Given the description of an element on the screen output the (x, y) to click on. 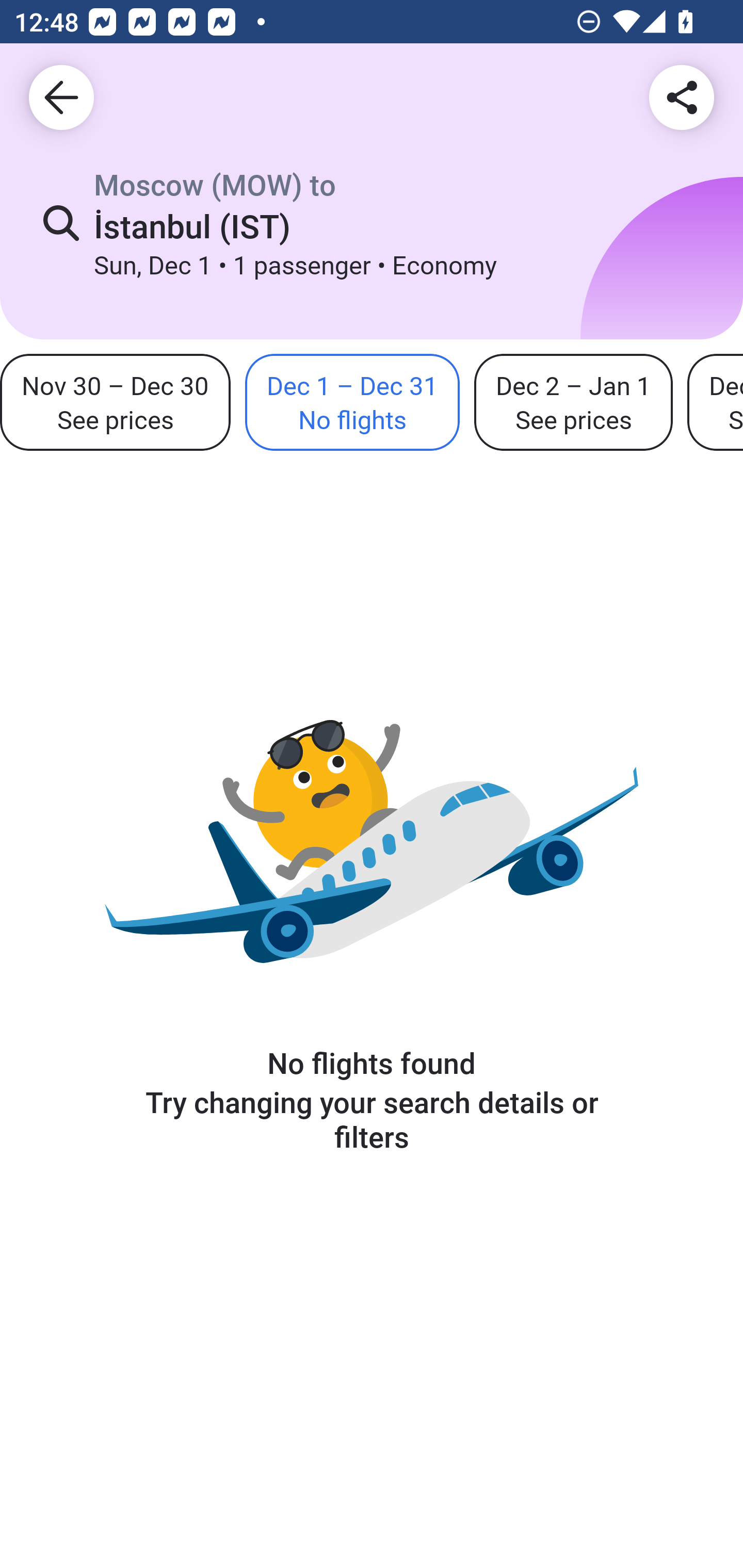
Nov 30 – Dec 30 See prices (115, 402)
Dec 1 – Dec 31 No flights (352, 402)
Dec 2 – Jan 1 See prices (573, 402)
